Given the description of an element on the screen output the (x, y) to click on. 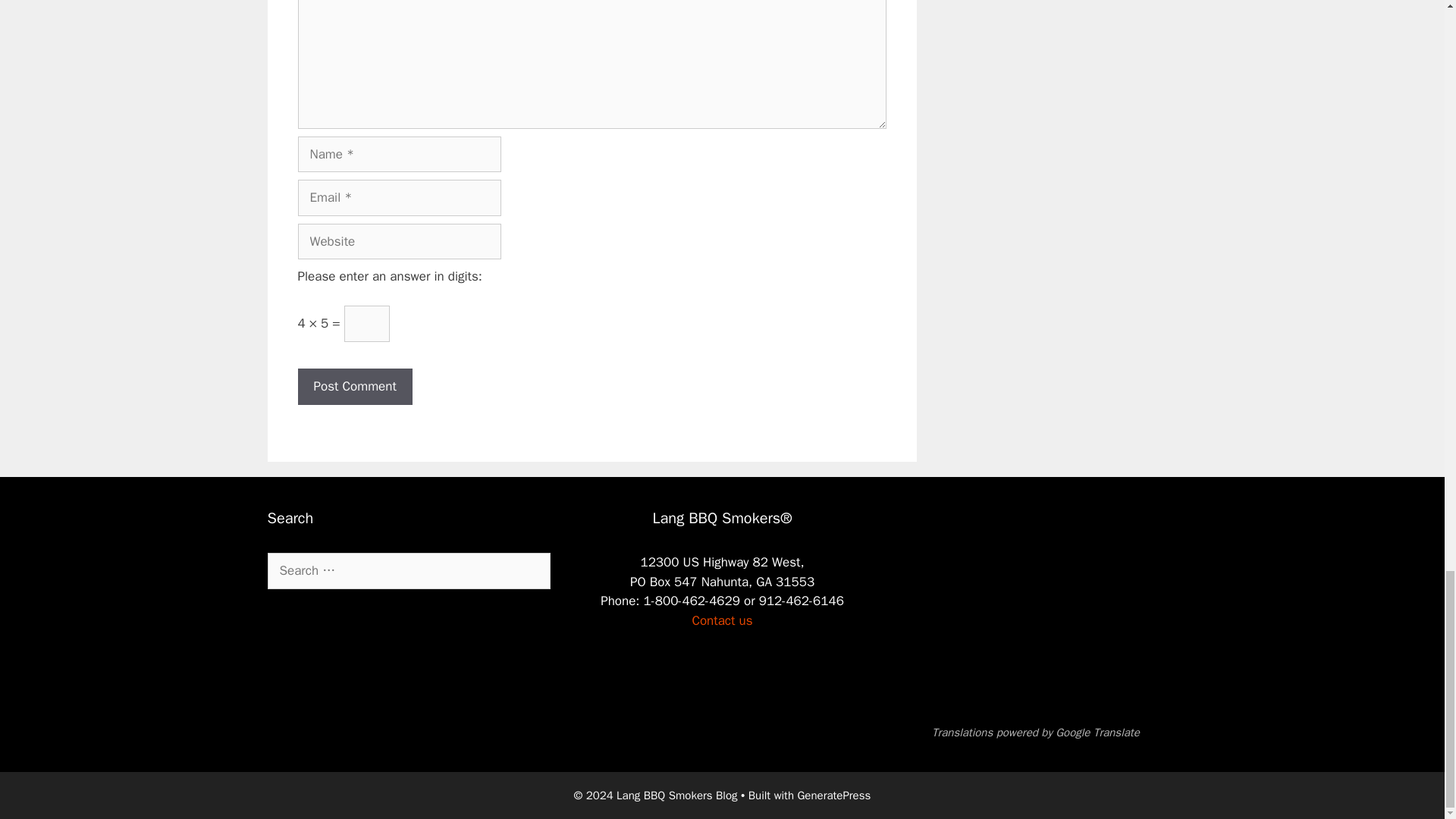
Search for: (408, 570)
Post Comment (354, 386)
Post Comment (354, 386)
RSS (261, 624)
